Given the description of an element on the screen output the (x, y) to click on. 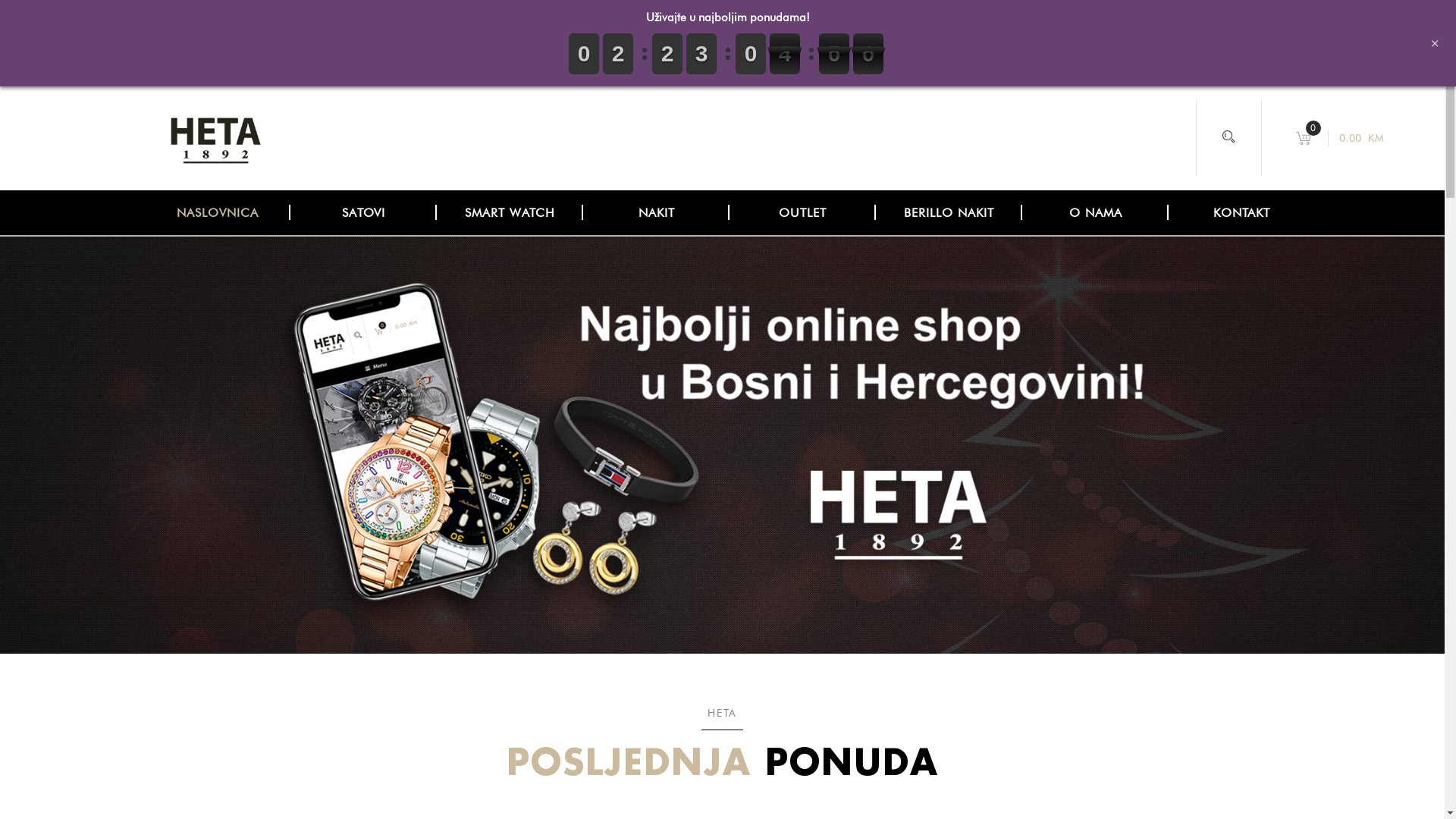
9
9 Element type: text (750, 53)
BERILLO NAKIT Element type: text (948, 212)
KONTAKT Element type: text (1241, 212)
NAKIT Element type: text (656, 212)
0
0.00 KM Element type: text (1341, 137)
SMART WATCH Element type: text (509, 212)
OUTLET Element type: text (802, 212)
SATOVI Element type: text (363, 212)
2
2 Element type: text (701, 53)
1
1 Element type: text (667, 53)
1 Element type: text (834, 53)
NASLOVNICA Element type: text (216, 212)
3
3 Element type: text (784, 53)
1
1 Element type: text (617, 53)
+ Element type: text (1434, 43)
Go Element type: text (1055, 410)
O NAMA Element type: text (1095, 212)
9
9 Element type: text (583, 53)
